Given the description of an element on the screen output the (x, y) to click on. 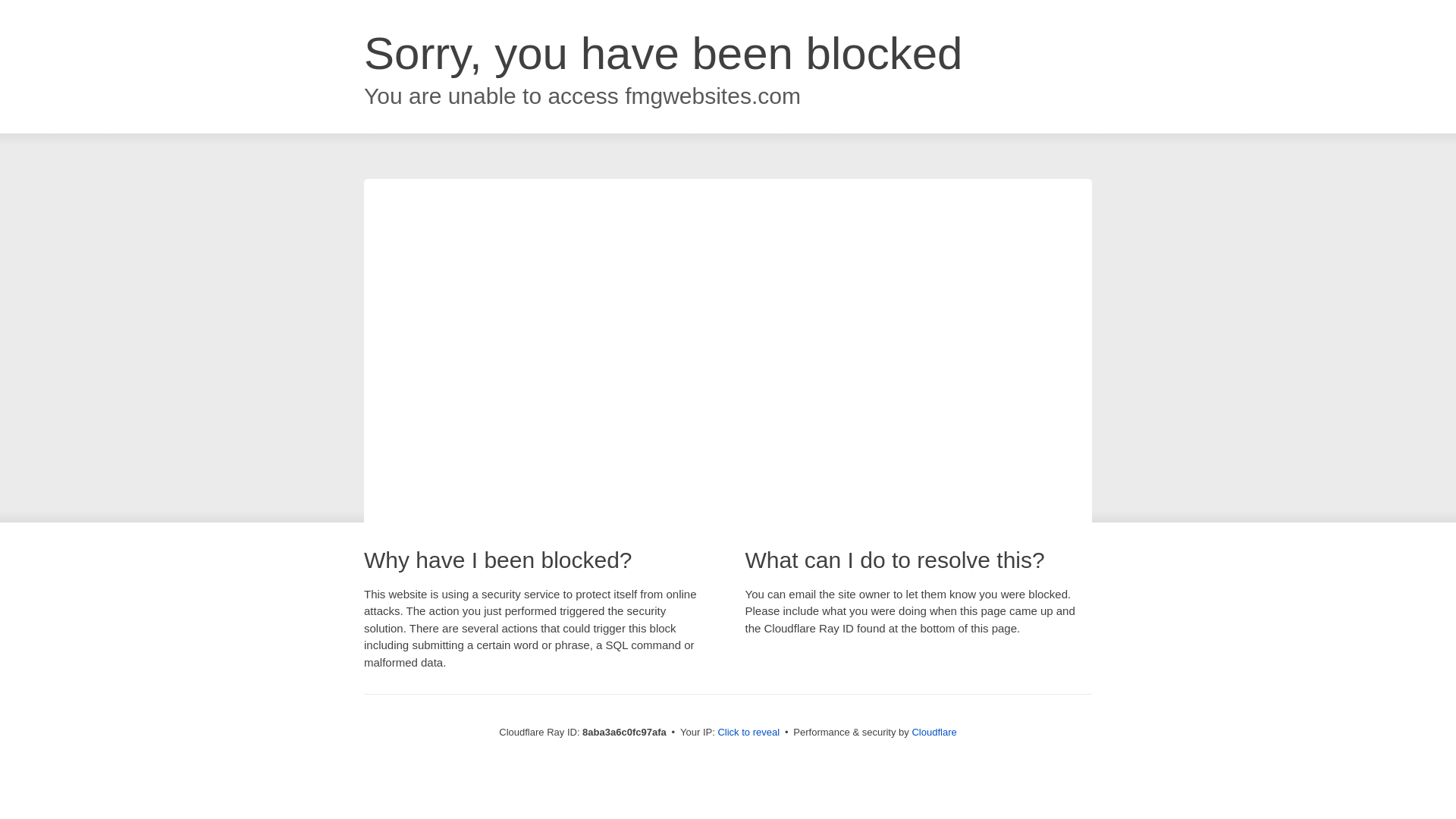
Click to reveal (747, 732)
Cloudflare (933, 731)
